Given the description of an element on the screen output the (x, y) to click on. 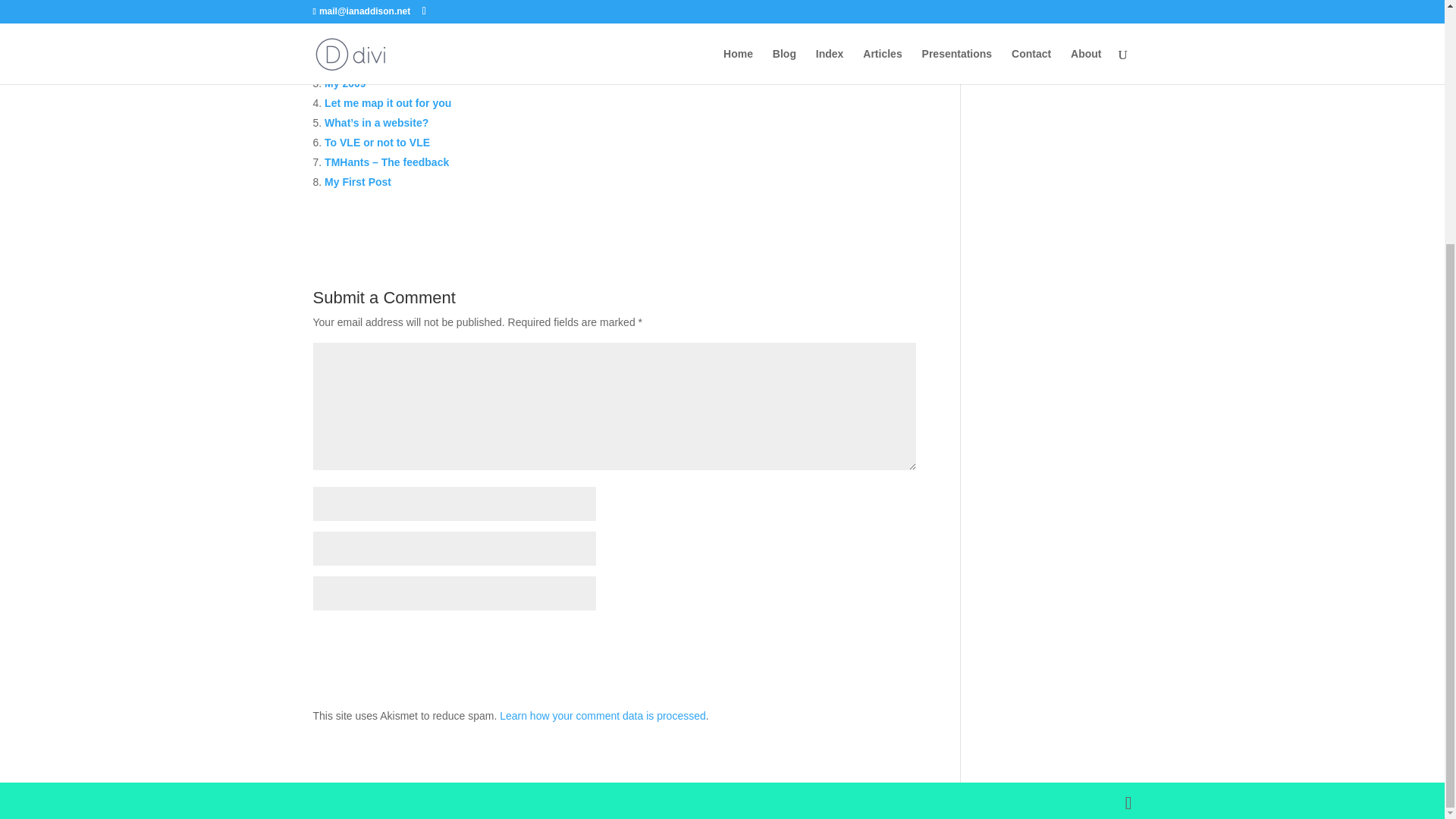
My 2009 (344, 82)
To VLE or not to VLE (376, 142)
Submit Comment (840, 639)
My new home (359, 63)
My First Post (357, 182)
Wanna share? (360, 43)
Submit Comment (840, 639)
My 2009 (344, 82)
Learn how your comment data is processed (602, 715)
Let me map it out for you (387, 102)
